Given the description of an element on the screen output the (x, y) to click on. 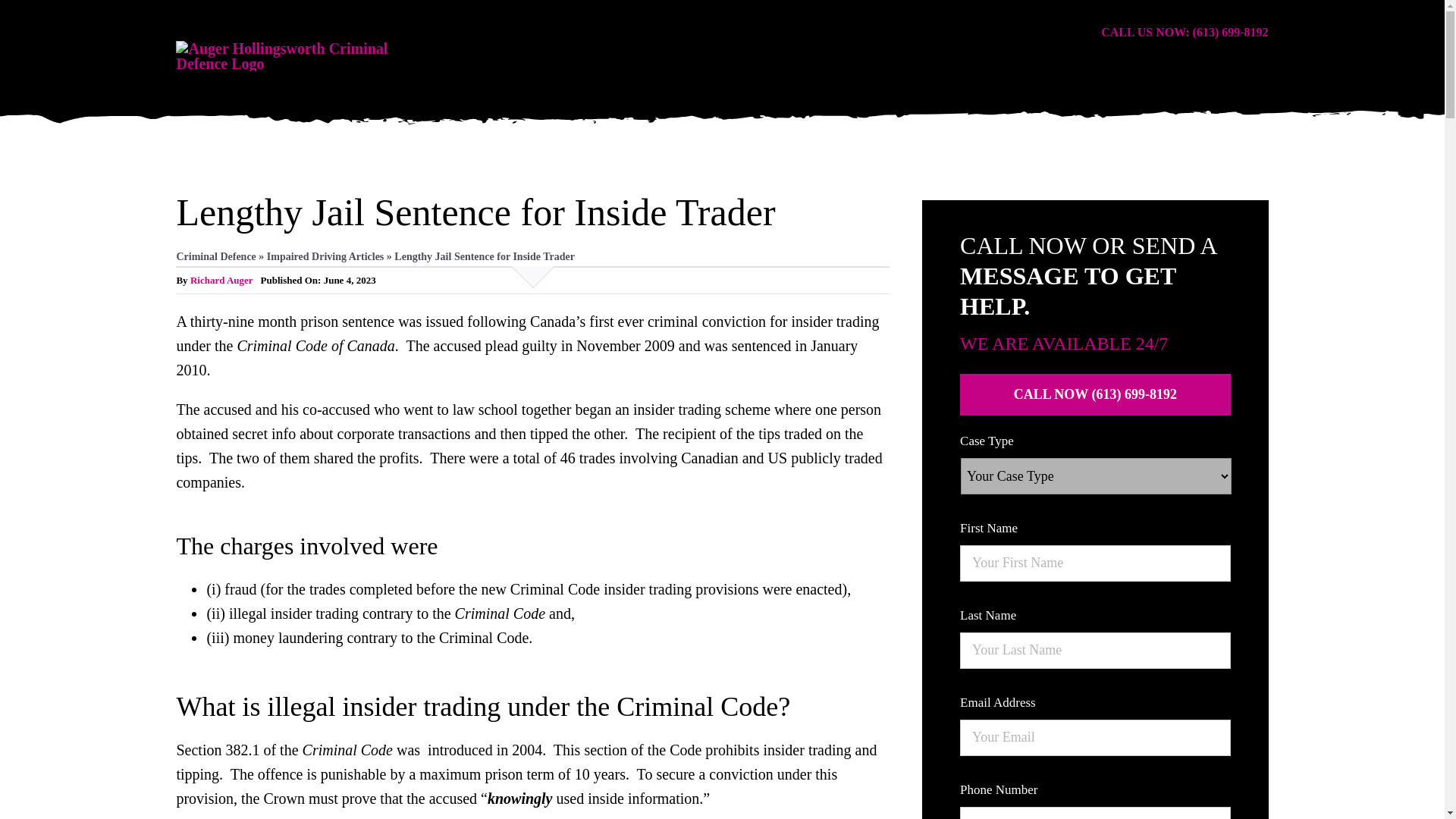
Criminal Defence (216, 256)
Impaired Driving Articles (325, 256)
Posts by Richard Auger (221, 279)
Richard Auger (221, 279)
